Given the description of an element on the screen output the (x, y) to click on. 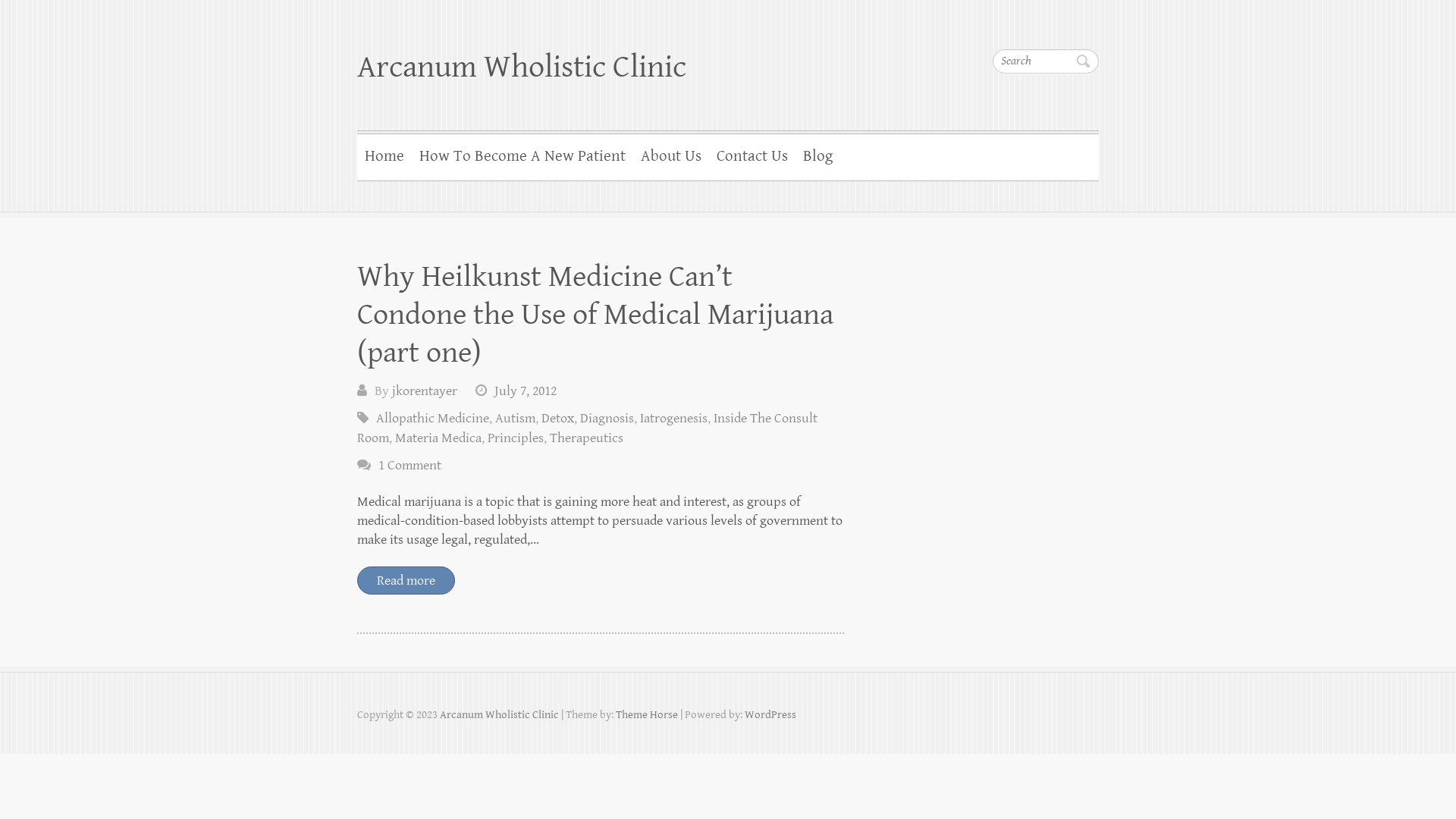
Arcanum Wholistic Clinic Element type: text (521, 67)
Materia Medica Element type: text (438, 437)
Principles Element type: text (515, 437)
Blog Element type: text (817, 155)
Allopathic Medicine Element type: text (432, 418)
Therapeutics Element type: text (586, 437)
Read more Element type: text (406, 580)
How To Become A New Patient Element type: text (522, 155)
Autism Element type: text (515, 418)
jkorentayer Element type: text (424, 390)
1 Comment Element type: text (409, 465)
Diagnosis Element type: text (606, 418)
July 7, 2012 Element type: text (525, 390)
Contact Us Element type: text (752, 155)
Home Element type: text (384, 155)
Arcanum Wholistic Clinic Element type: text (498, 714)
About Us Element type: text (671, 155)
Inside The Consult Room Element type: text (587, 427)
WordPress Element type: text (770, 714)
Detox Element type: text (557, 418)
Iatrogenesis Element type: text (673, 418)
Theme Horse Element type: text (646, 714)
